Given the description of an element on the screen output the (x, y) to click on. 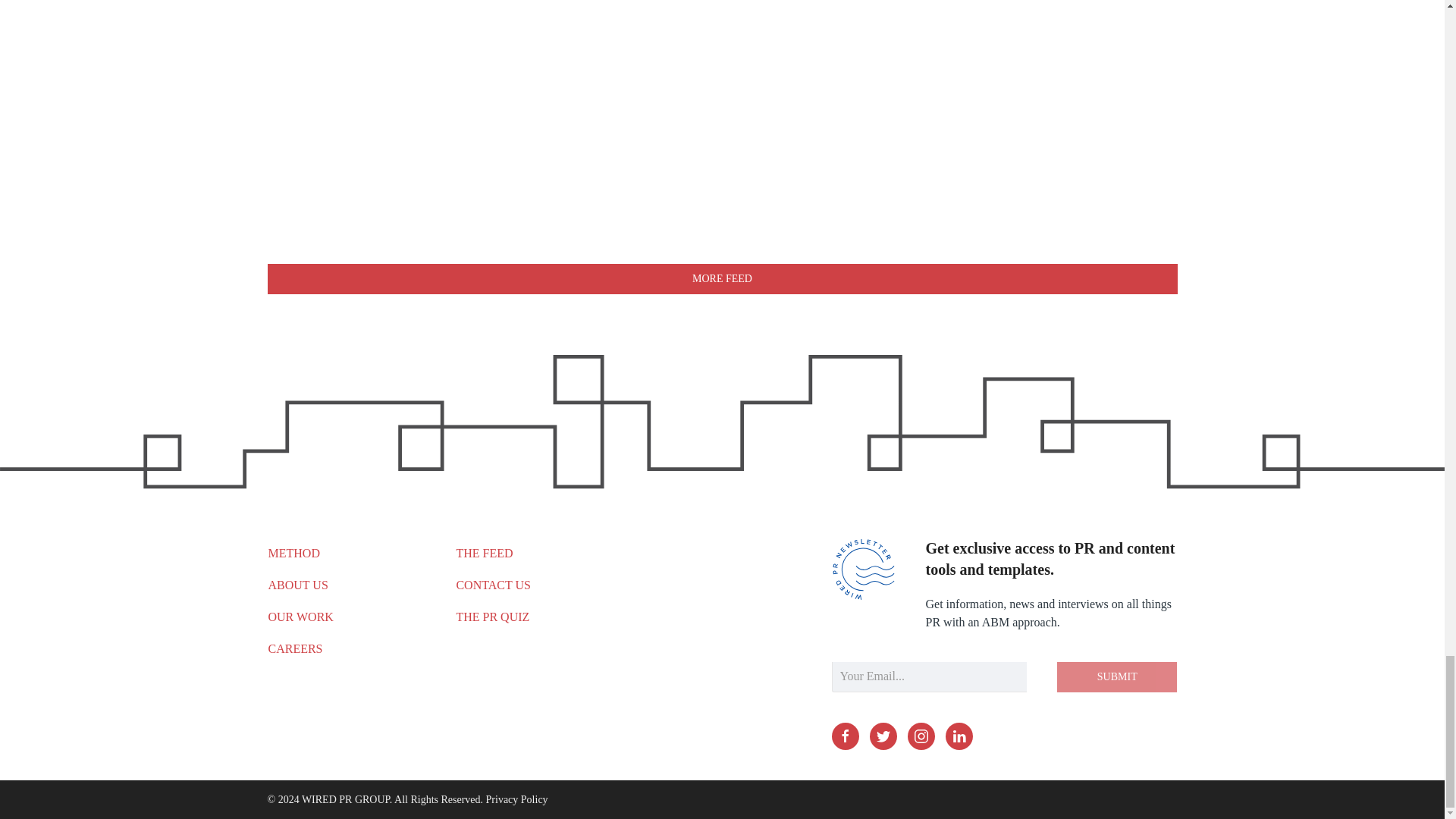
Submit (1116, 676)
